Given the description of an element on the screen output the (x, y) to click on. 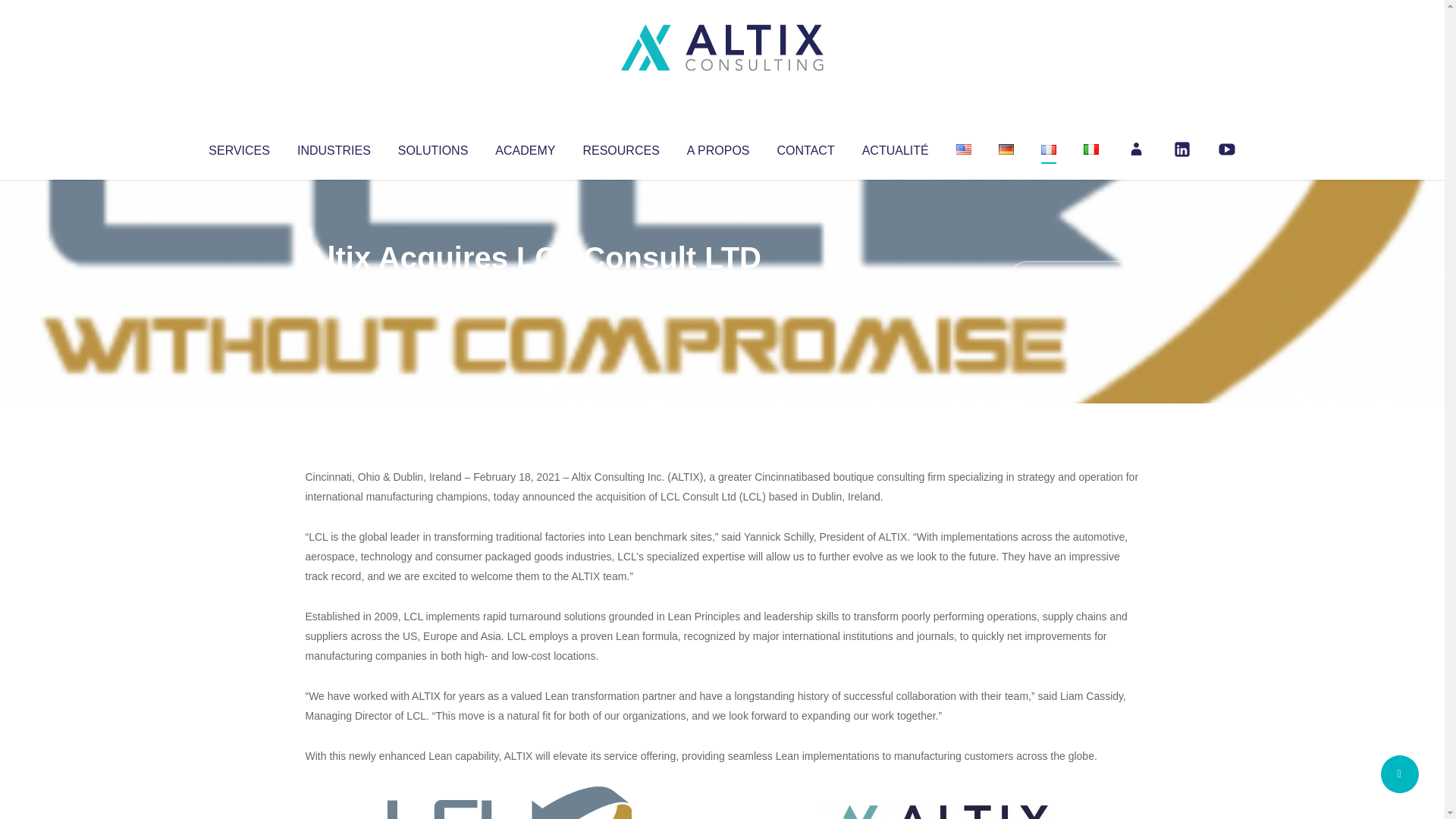
SERVICES (238, 146)
ACADEMY (524, 146)
A PROPOS (718, 146)
INDUSTRIES (334, 146)
Articles par Altix (333, 287)
No Comments (1073, 278)
Uncategorized (530, 287)
RESOURCES (620, 146)
Altix (333, 287)
SOLUTIONS (432, 146)
